Given the description of an element on the screen output the (x, y) to click on. 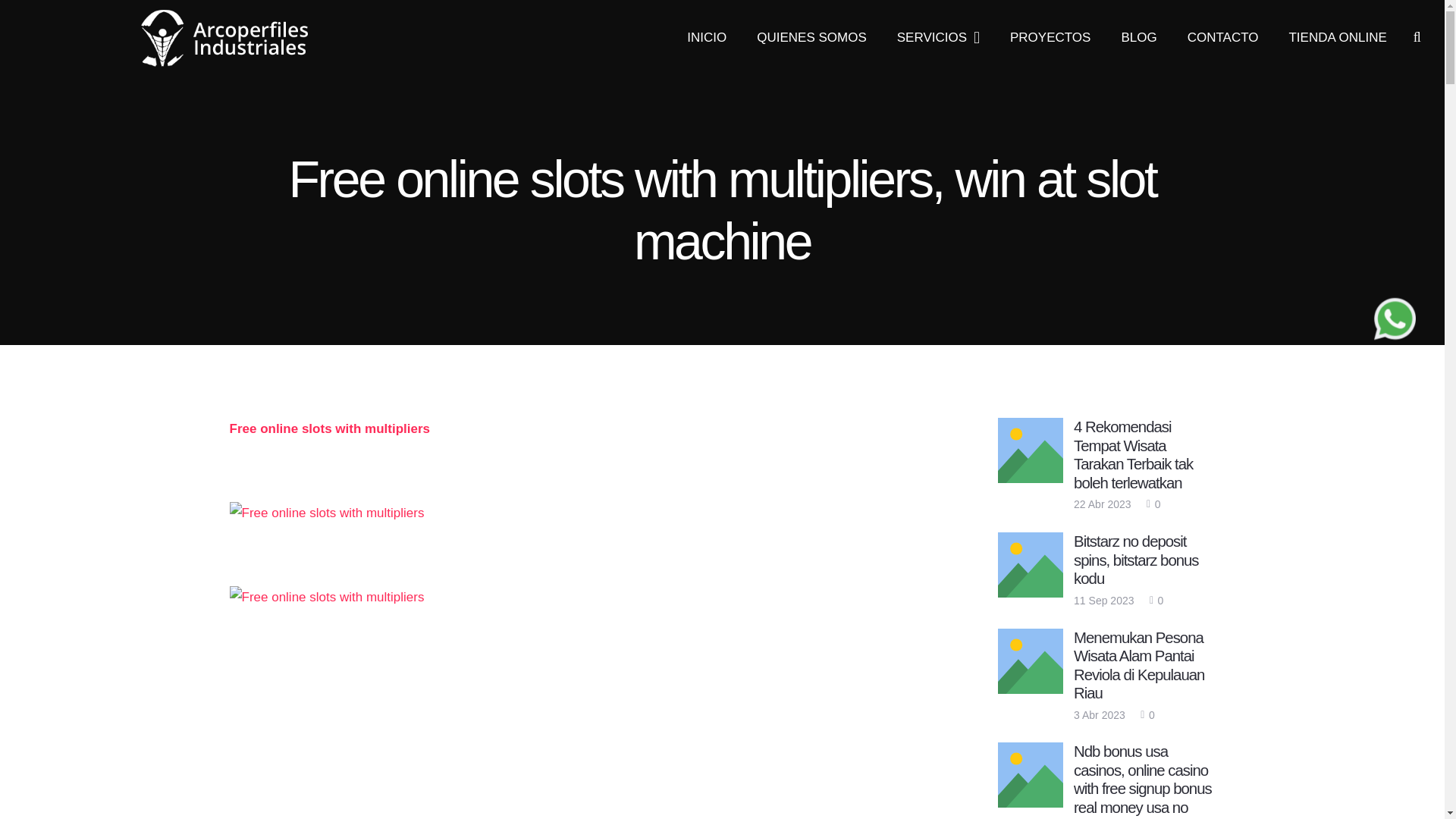
Free online slots with multipliers (325, 597)
QUIENES SOMOS (811, 38)
TIENDA ONLINE (1336, 38)
CONTACTO (1223, 38)
INICIO (706, 38)
Free online slots with multipliers (328, 428)
PROYECTOS (1049, 38)
Bitstarz no deposit spins, bitstarz bonus kodu (1136, 560)
Free online slots with multipliers (325, 513)
